Given the description of an element on the screen output the (x, y) to click on. 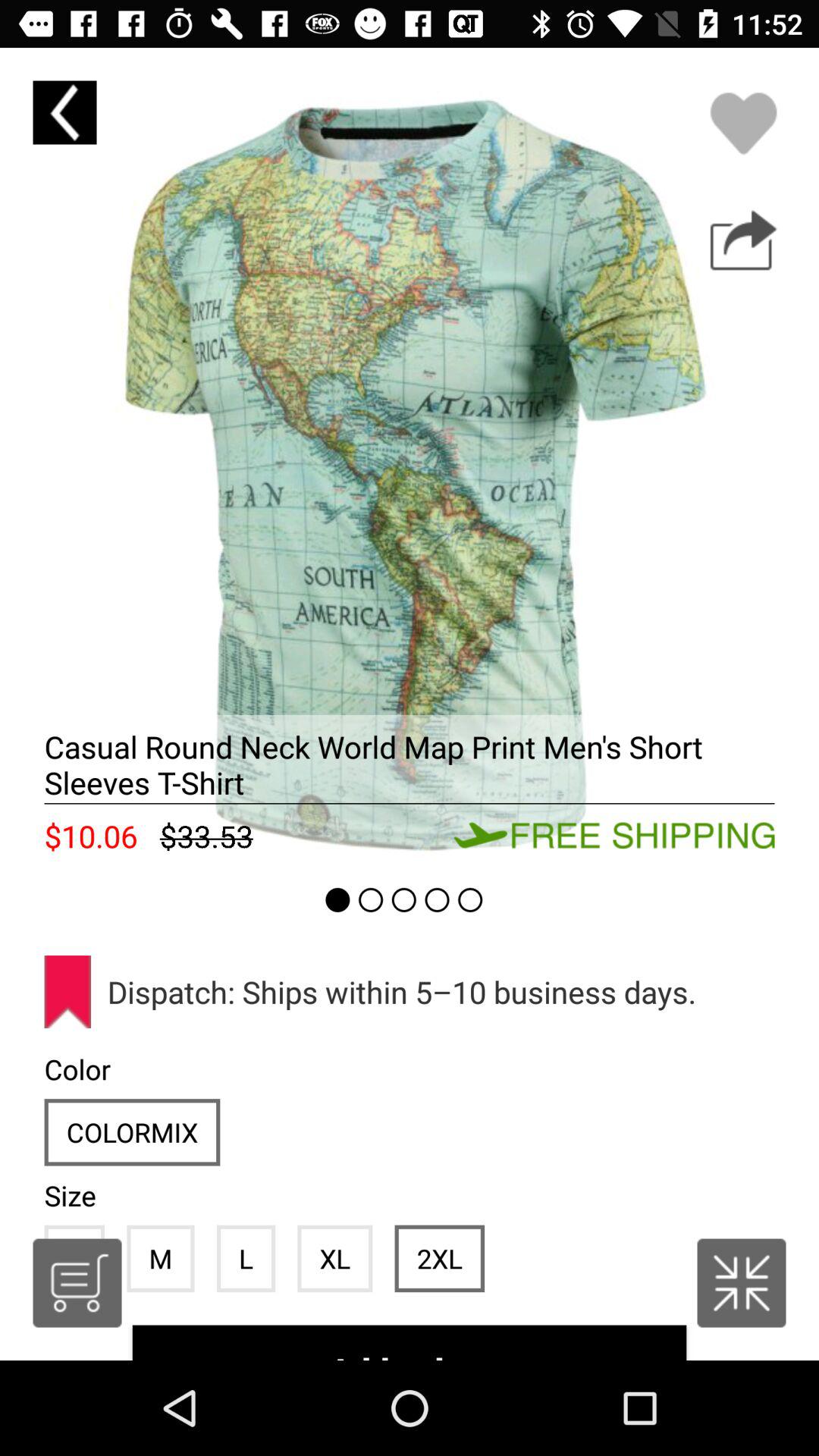
choose the icon to the left of the m icon (76, 1282)
